Given the description of an element on the screen output the (x, y) to click on. 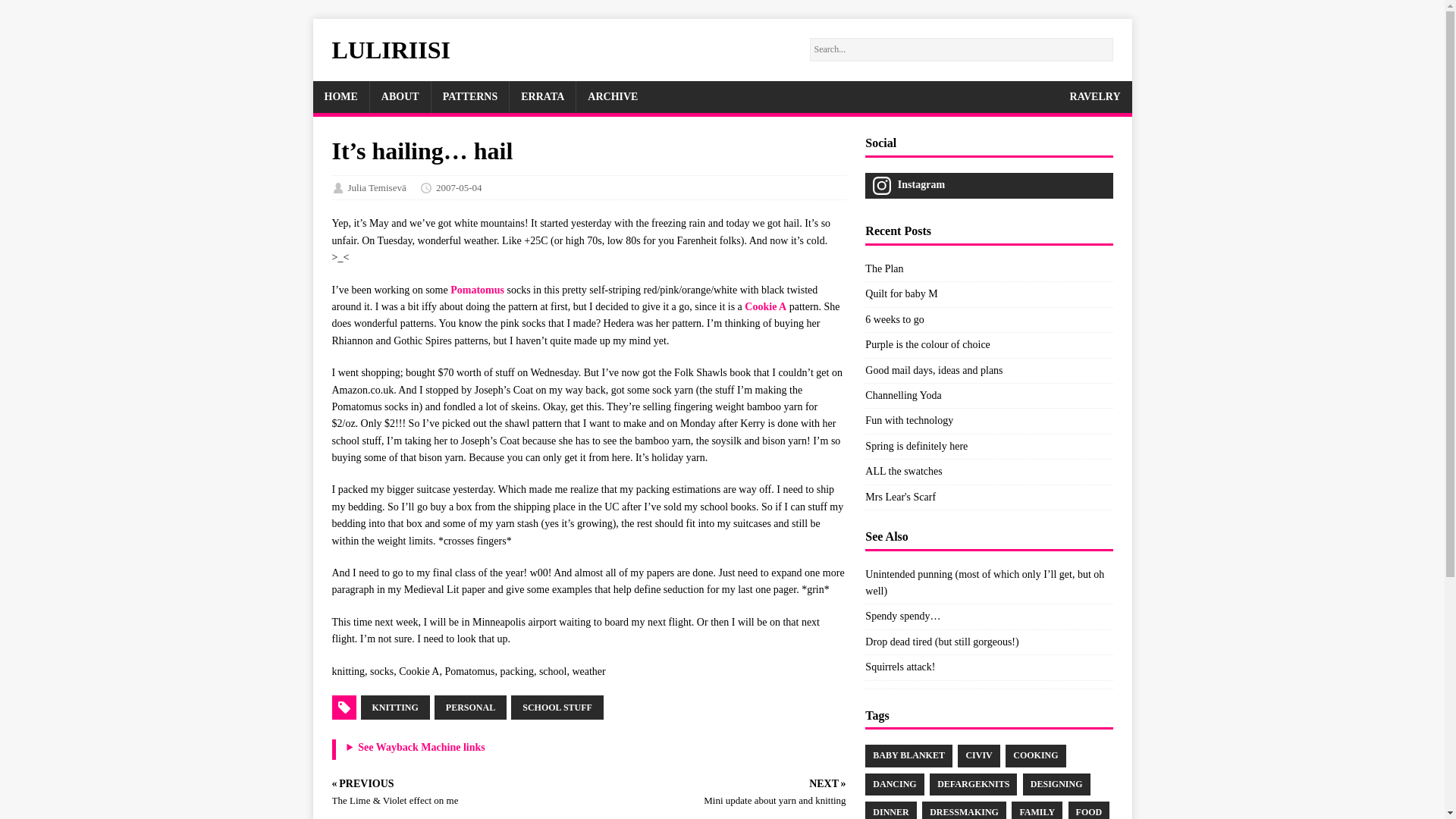
dancing (893, 784)
Cookie A (765, 306)
RAVELRY (1095, 97)
Pomatomus (476, 289)
Fun with technology (908, 419)
The Plan (883, 268)
BABY BLANKET (908, 755)
family (1036, 810)
PATTERNS (469, 97)
Channelling Yoda (902, 395)
